Given the description of an element on the screen output the (x, y) to click on. 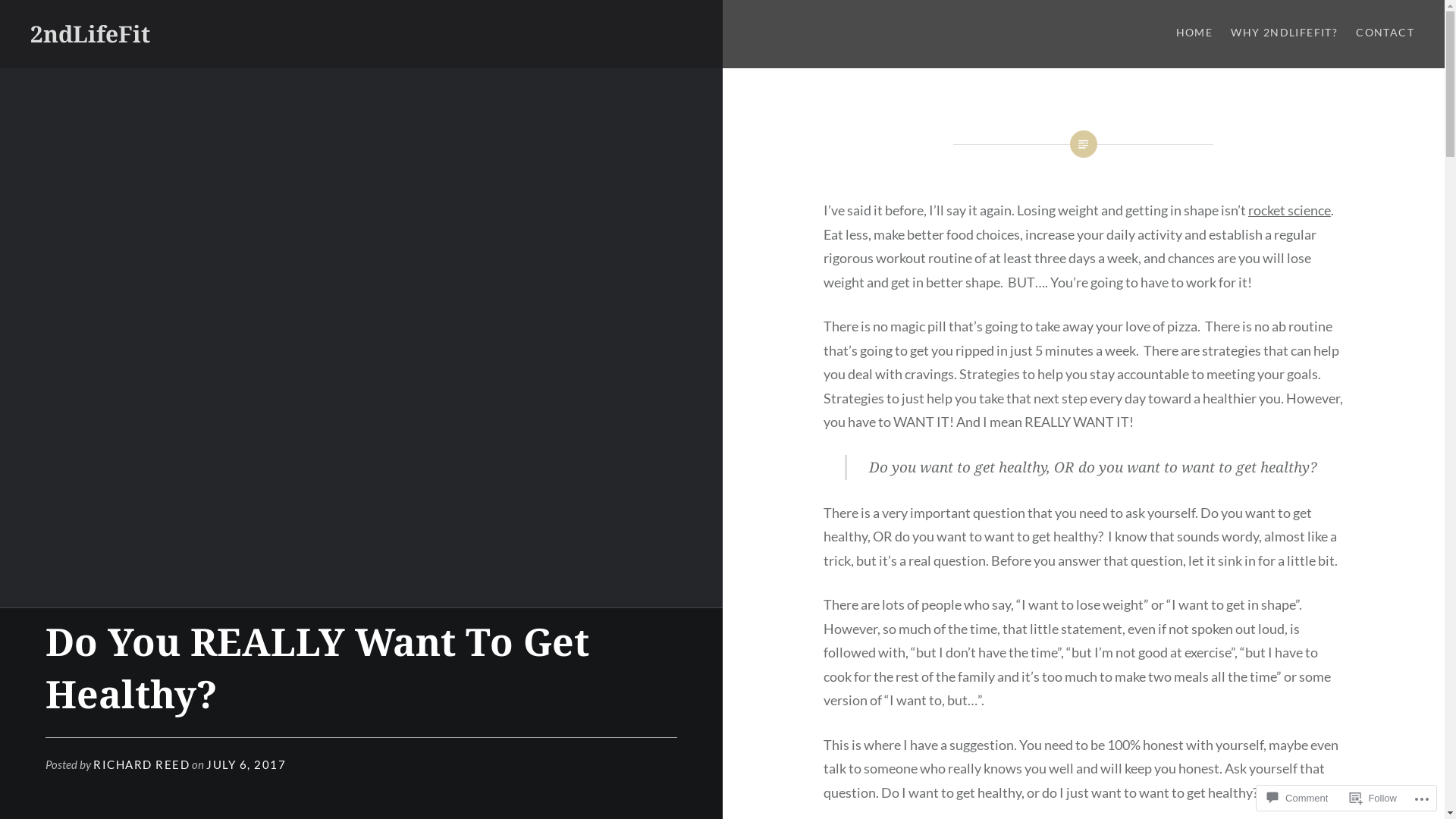
rocket science Element type: text (1289, 209)
JULY 6, 2017 Element type: text (245, 764)
RICHARD REED Element type: text (141, 764)
WHY 2NDLIFEFIT? Element type: text (1283, 32)
HOME Element type: text (1194, 32)
CONTACT Element type: text (1384, 32)
2ndLifeFit Element type: text (90, 33)
Comment Element type: text (1297, 797)
Follow Element type: text (1372, 797)
Search Element type: text (141, 19)
